Given the description of an element on the screen output the (x, y) to click on. 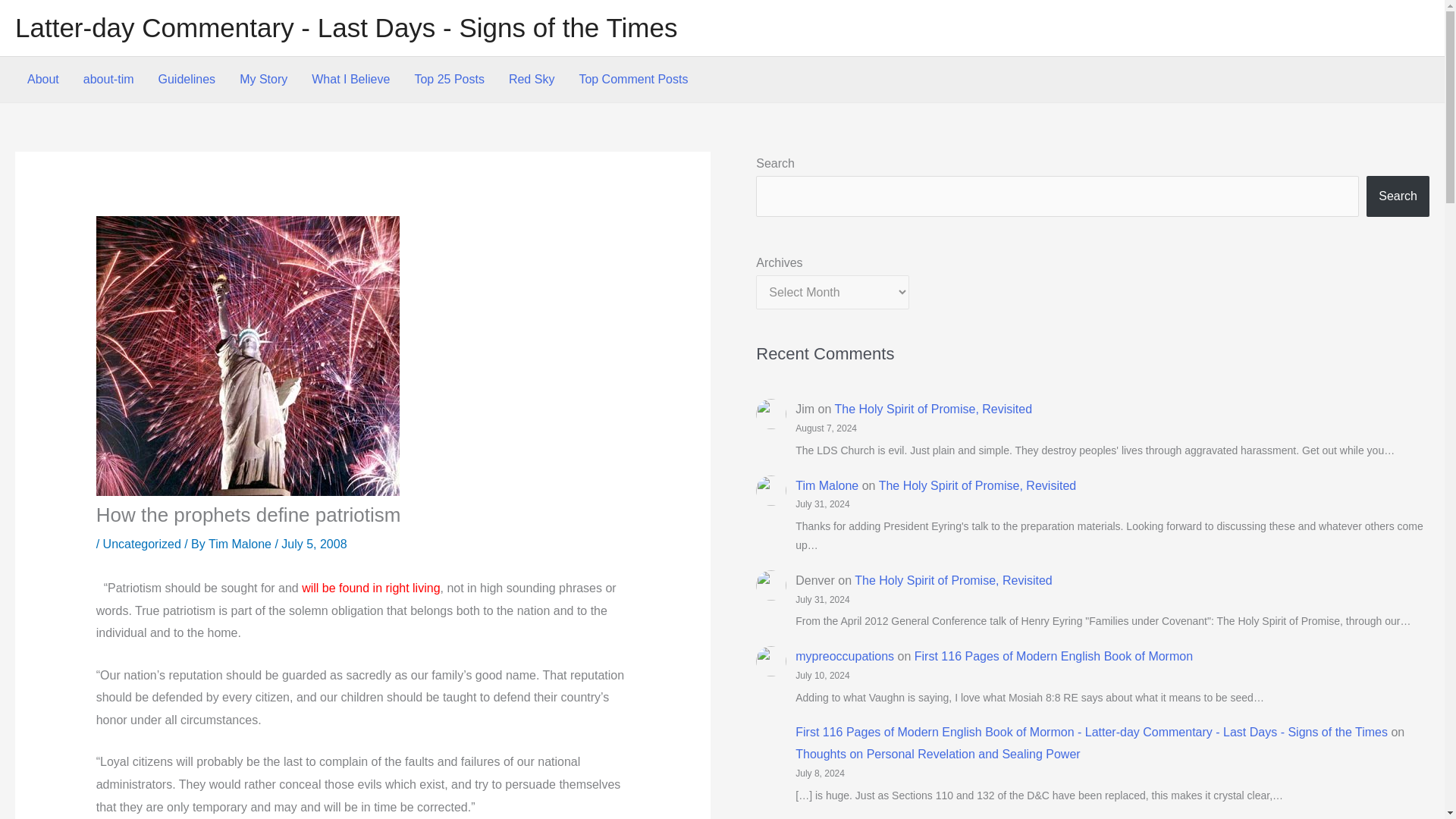
Top 25 Posts (448, 79)
Tim Malone (241, 543)
View all posts by Tim Malone (241, 543)
Latter-day Commentary - Last Days - Signs of the Times (345, 27)
Red Sky (531, 79)
Uncategorized (141, 543)
about-tim (109, 79)
My Story (263, 79)
About (42, 79)
Top Comment Posts (633, 79)
